Given the description of an element on the screen output the (x, y) to click on. 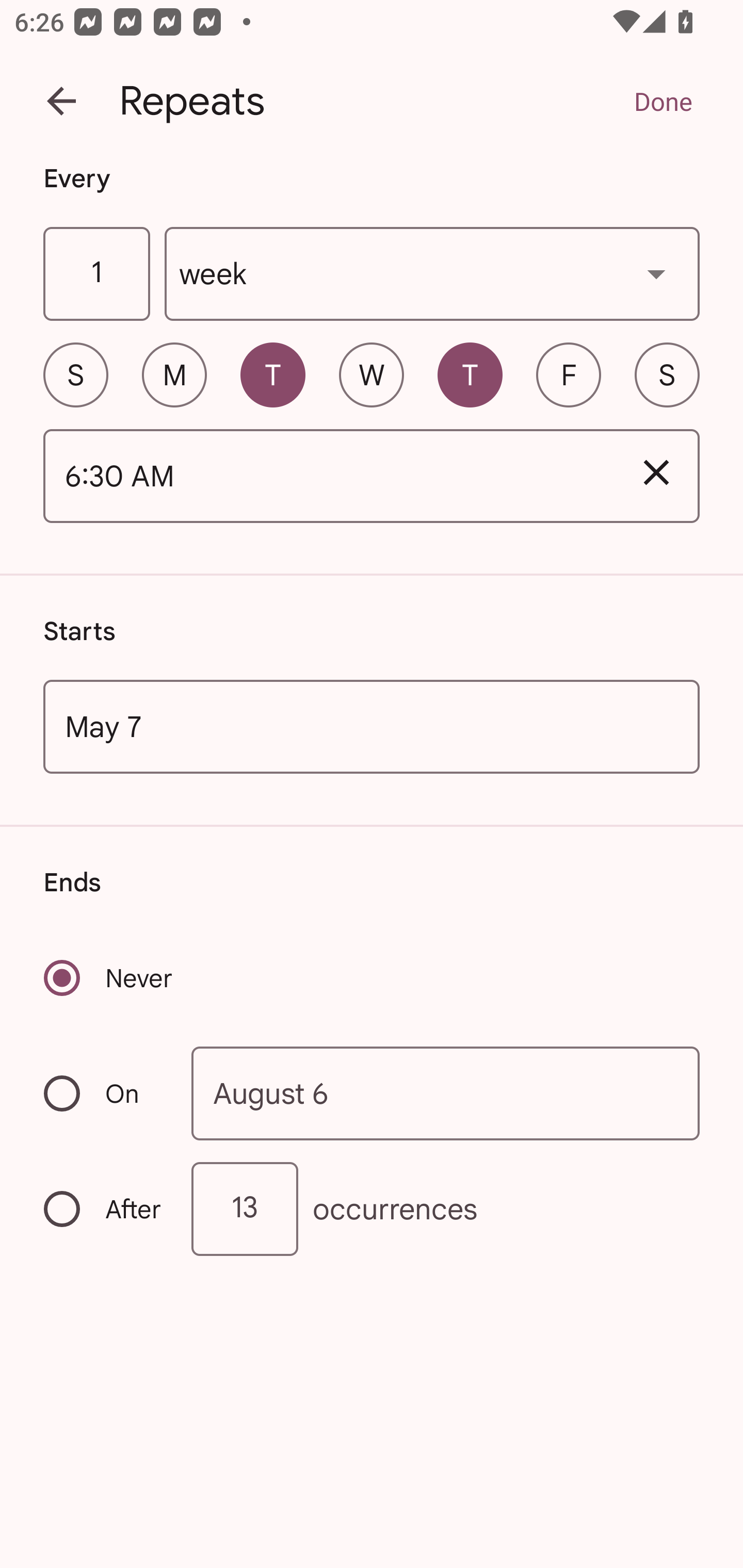
Back (61, 101)
Done (663, 101)
1 (96, 274)
week (431, 274)
Show dropdown menu (655, 273)
S Sunday (75, 374)
M Monday (173, 374)
T Tuesday, selected (272, 374)
W Wednesday (371, 374)
T Thursday, selected (469, 374)
F Friday (568, 374)
S Saturday (666, 374)
6:30 AM (327, 476)
Remove 6:30 AM (655, 472)
May 7 (371, 726)
Never Recurrence never ends (109, 978)
August 6 (445, 1092)
On Recurrence ends on a specific date (104, 1093)
13 (244, 1208)
